Given the description of an element on the screen output the (x, y) to click on. 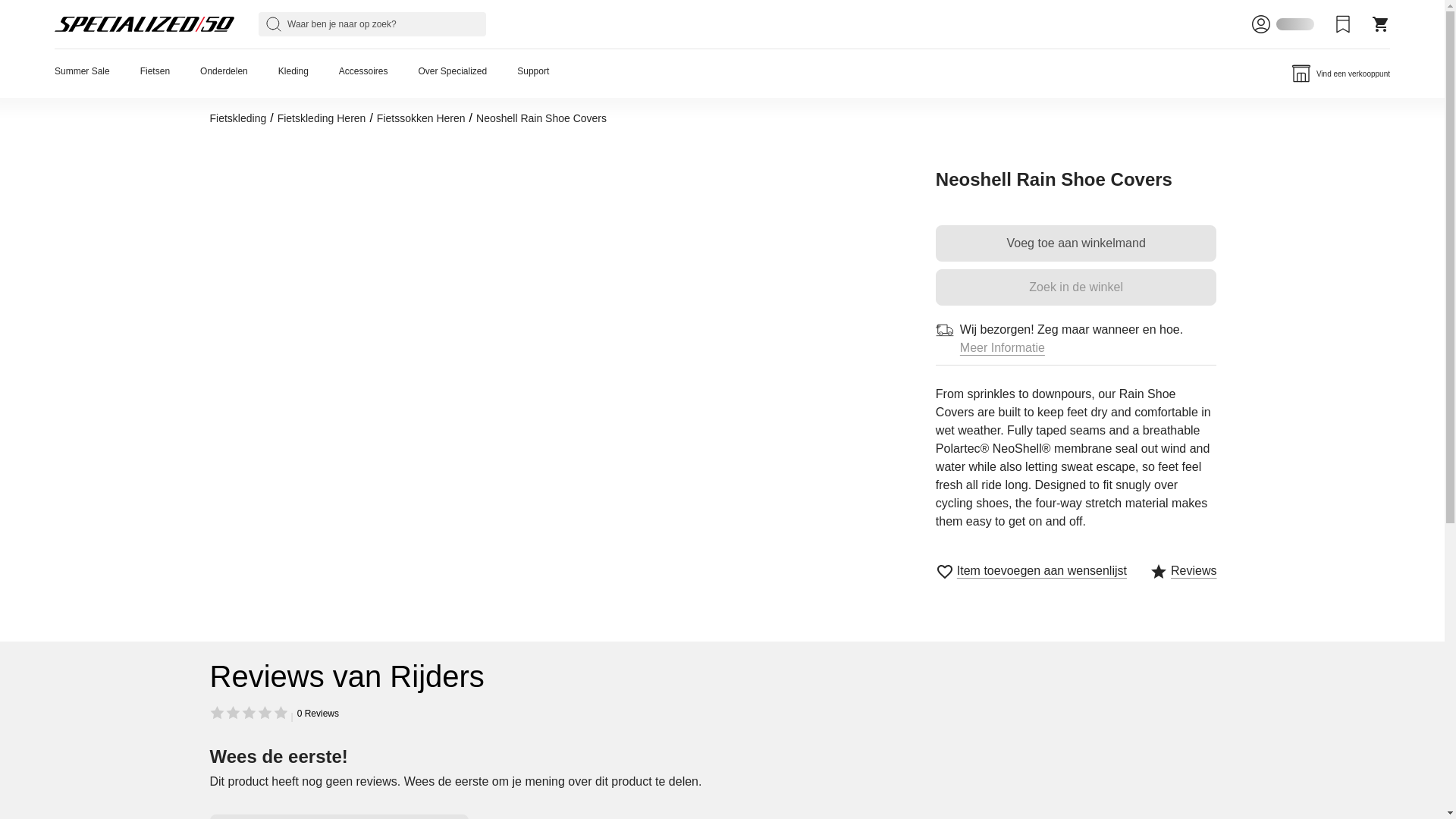
Cart Icon (1380, 24)
Vind een verkooppunt (1341, 73)
Cart Icon (1380, 24)
Delivery Icon (944, 330)
